Given the description of an element on the screen output the (x, y) to click on. 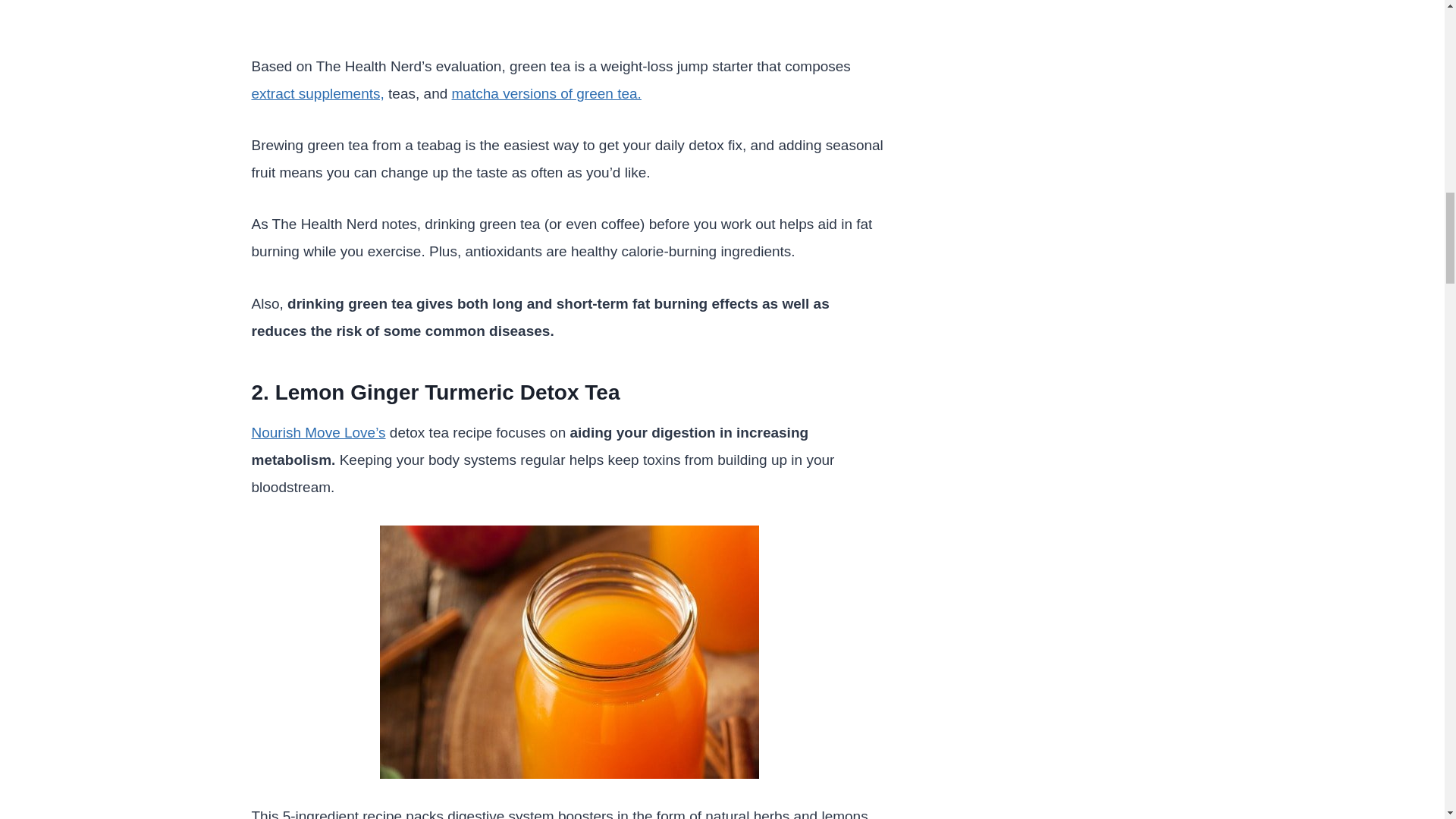
turmeric detox tea recipes for weight loss (569, 651)
matcha versions of green tea. (546, 93)
extract supplements, (317, 93)
